Given the description of an element on the screen output the (x, y) to click on. 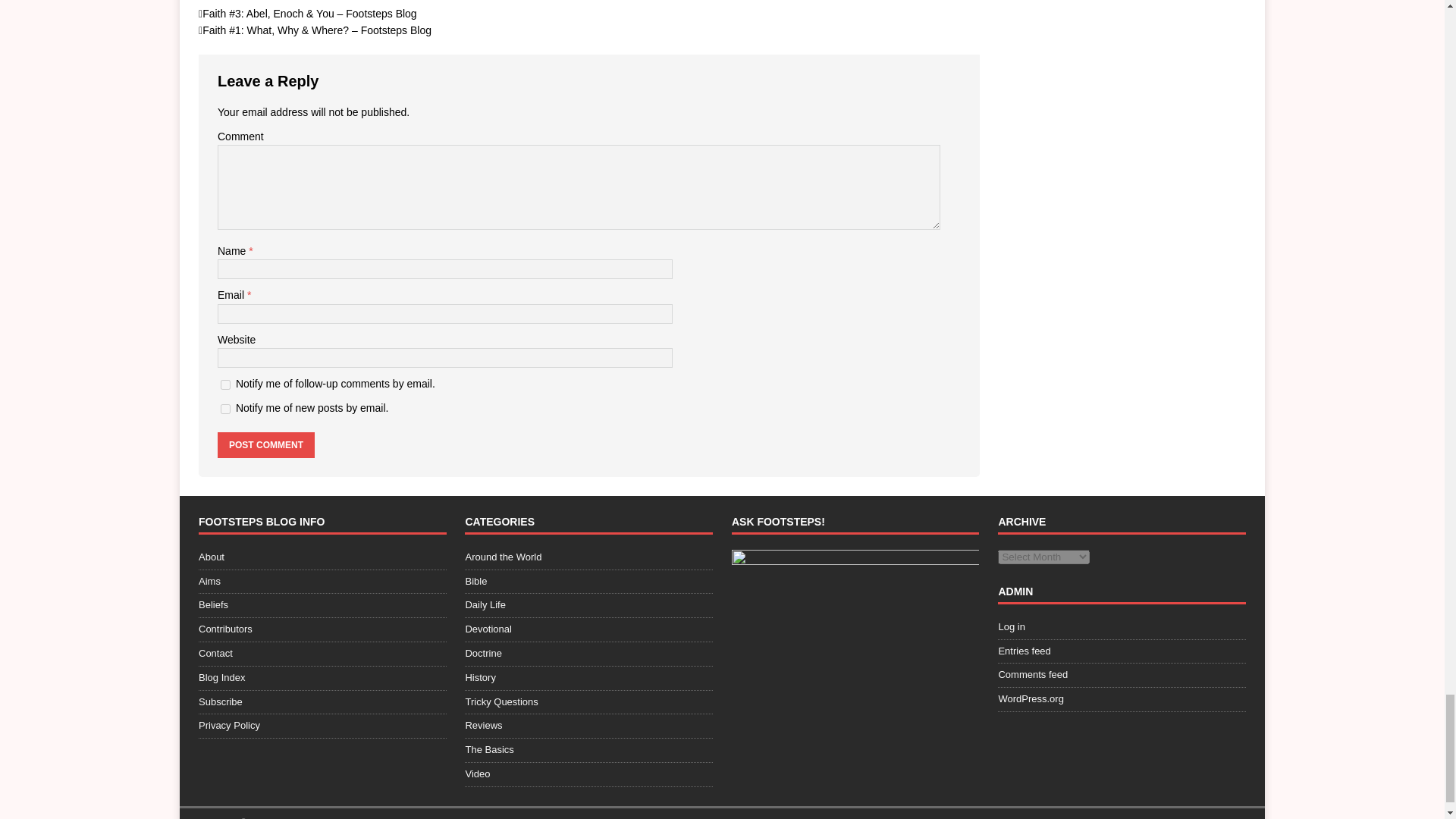
subscribe (225, 409)
subscribe (225, 384)
Post Comment (265, 444)
